Given the description of an element on the screen output the (x, y) to click on. 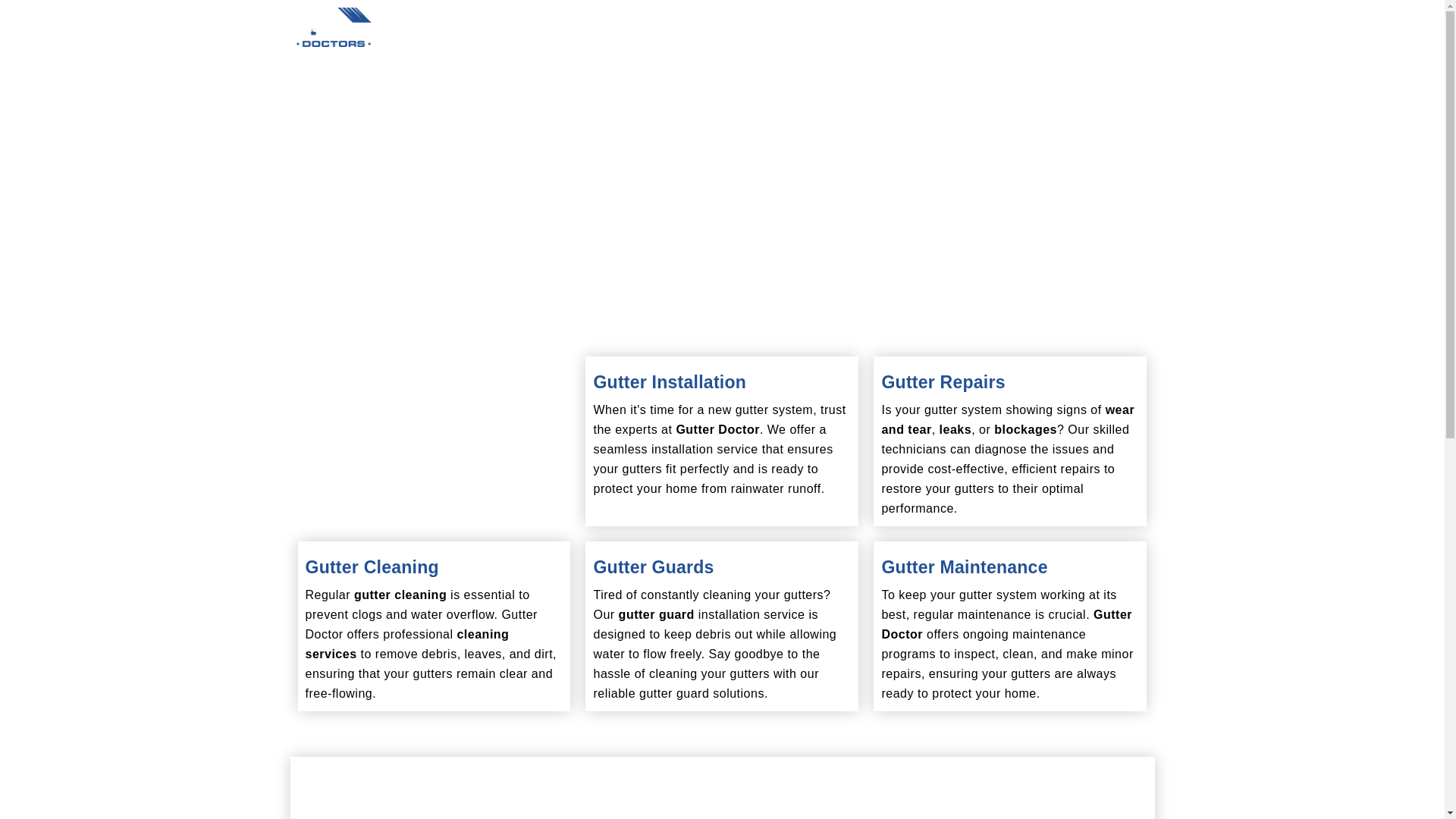
About Us (577, 29)
Services (654, 29)
Contact Us (815, 29)
Our Work (732, 29)
Home (513, 29)
